Given the description of an element on the screen output the (x, y) to click on. 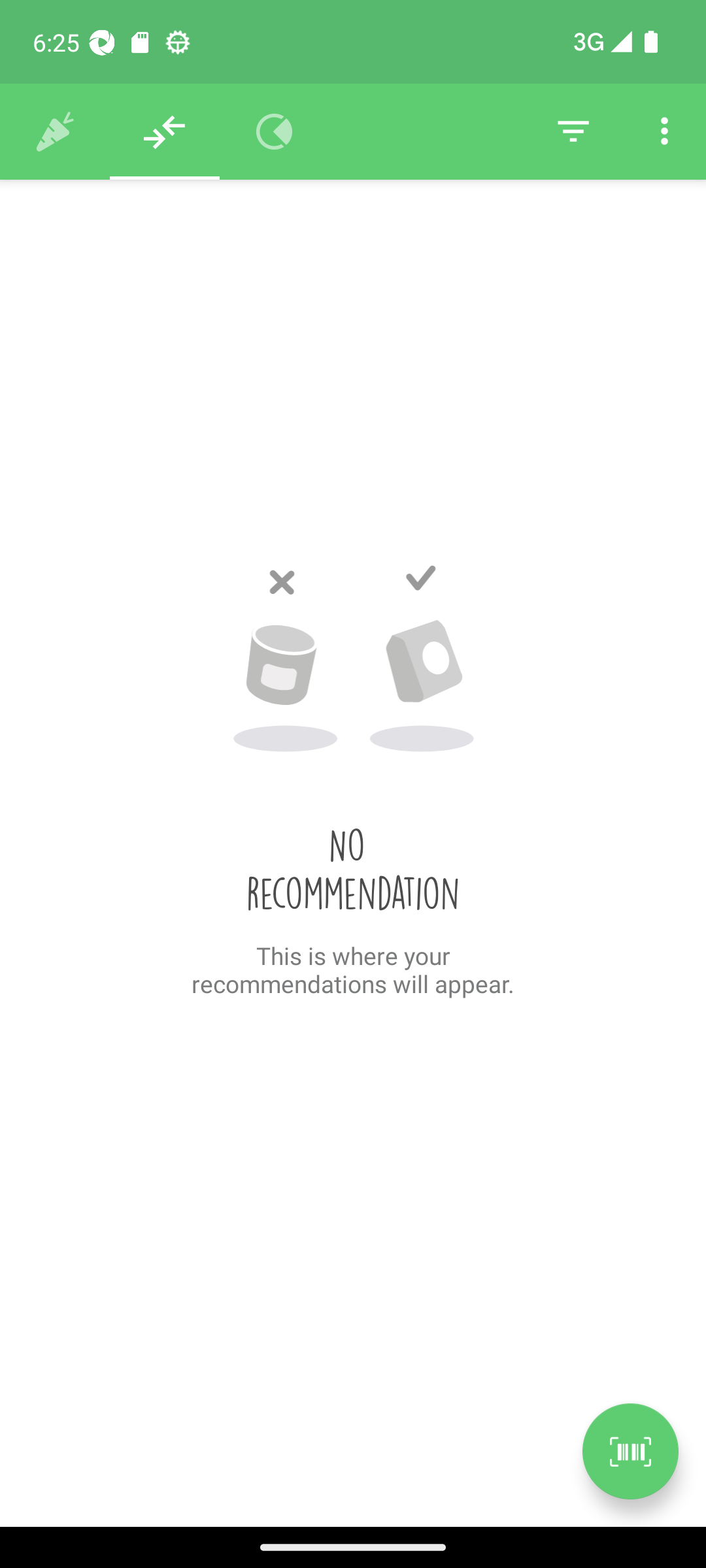
History (55, 131)
Overview (274, 131)
Filter (572, 131)
Settings (664, 131)
Scan a product (630, 1451)
